Given the description of an element on the screen output the (x, y) to click on. 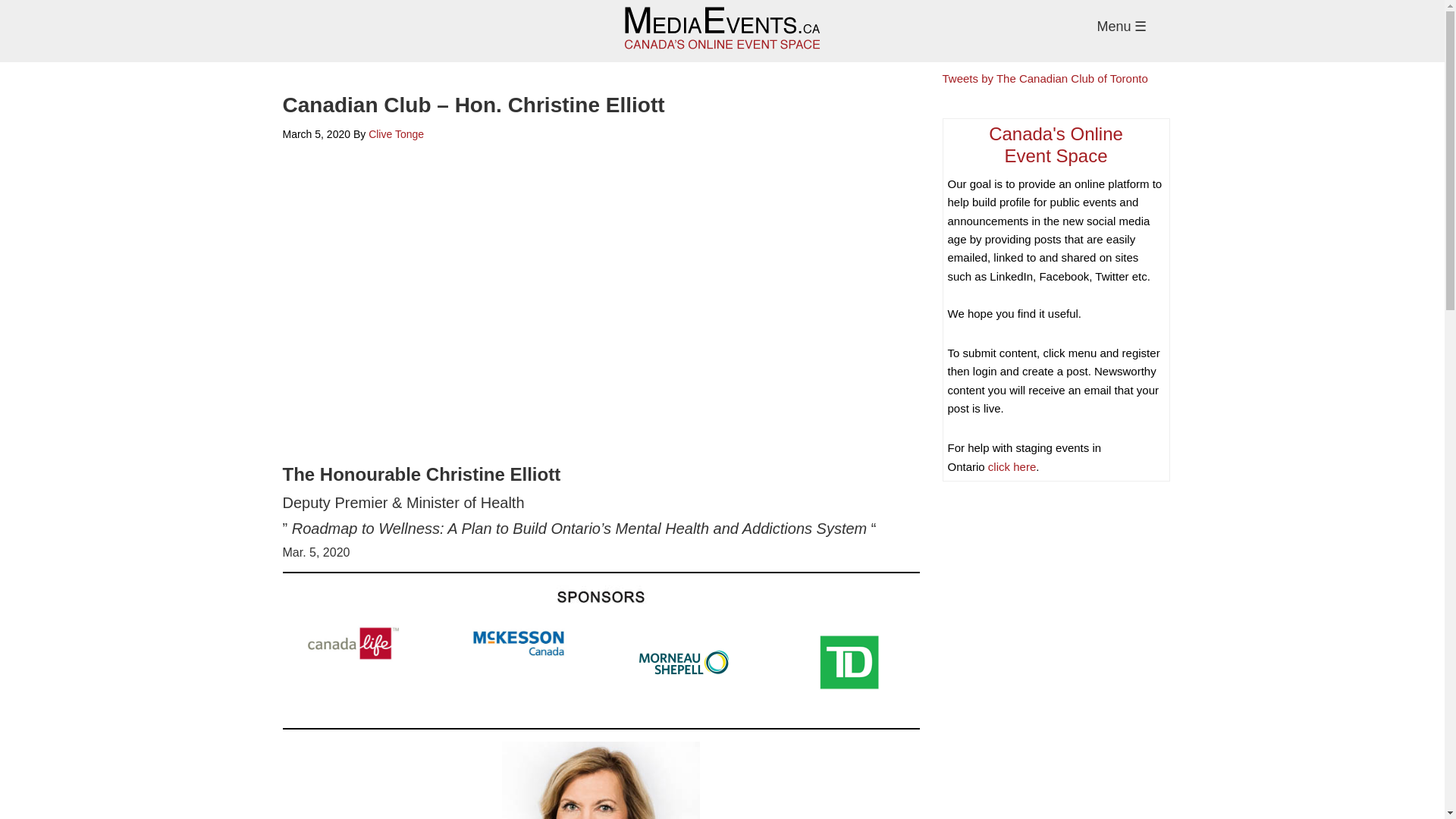
Clive Tonge (1055, 156)
 click here (395, 133)
Tweets by The Canadian Club of Toronto (1010, 466)
Skip to primary navigation (1044, 78)
